Given the description of an element on the screen output the (x, y) to click on. 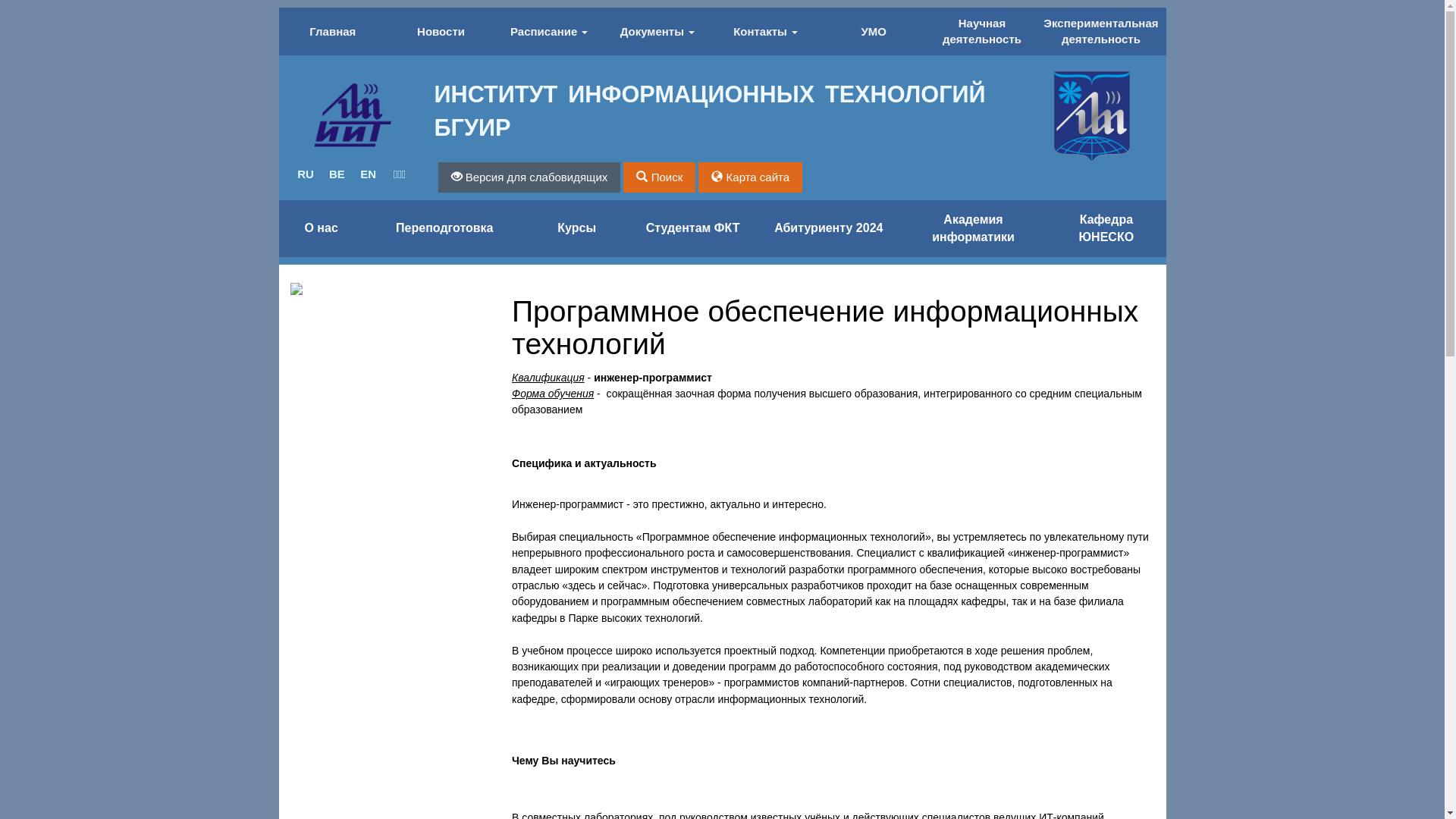
EN Element type: text (367, 173)
BE Element type: text (336, 173)
RU Element type: text (304, 173)
